Given the description of an element on the screen output the (x, y) to click on. 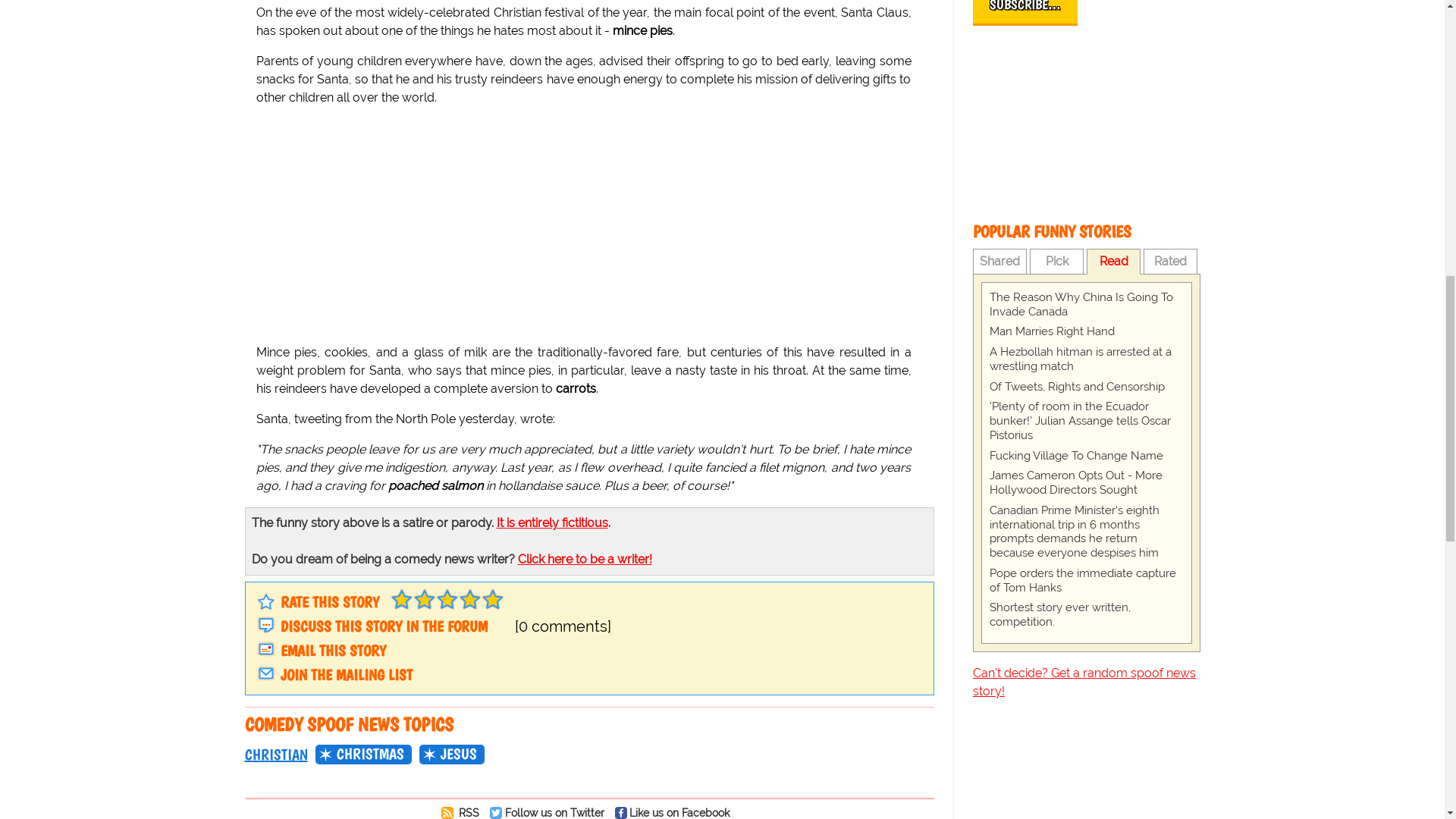
Shortest story ever written, competition. (1086, 614)
JOIN THE MAILING LIST (346, 674)
View RSS Feed (464, 812)
Fucking Village To Change Name (1086, 455)
CHRISTMAS (363, 754)
James Cameron Opts Out - More Hollywood Directors Sought (1086, 482)
Follow us on Twitter (550, 812)
DISCUSS THIS STORY IN THE FORUM (384, 626)
It is entirely fictitious (551, 522)
RSS (464, 812)
Advertisement (1085, 124)
EMAIL THIS STORY (333, 650)
Click here to be a writer! (583, 559)
A Hezbollah hitman is arrested at a wrestling match (1086, 358)
